Given the description of an element on the screen output the (x, y) to click on. 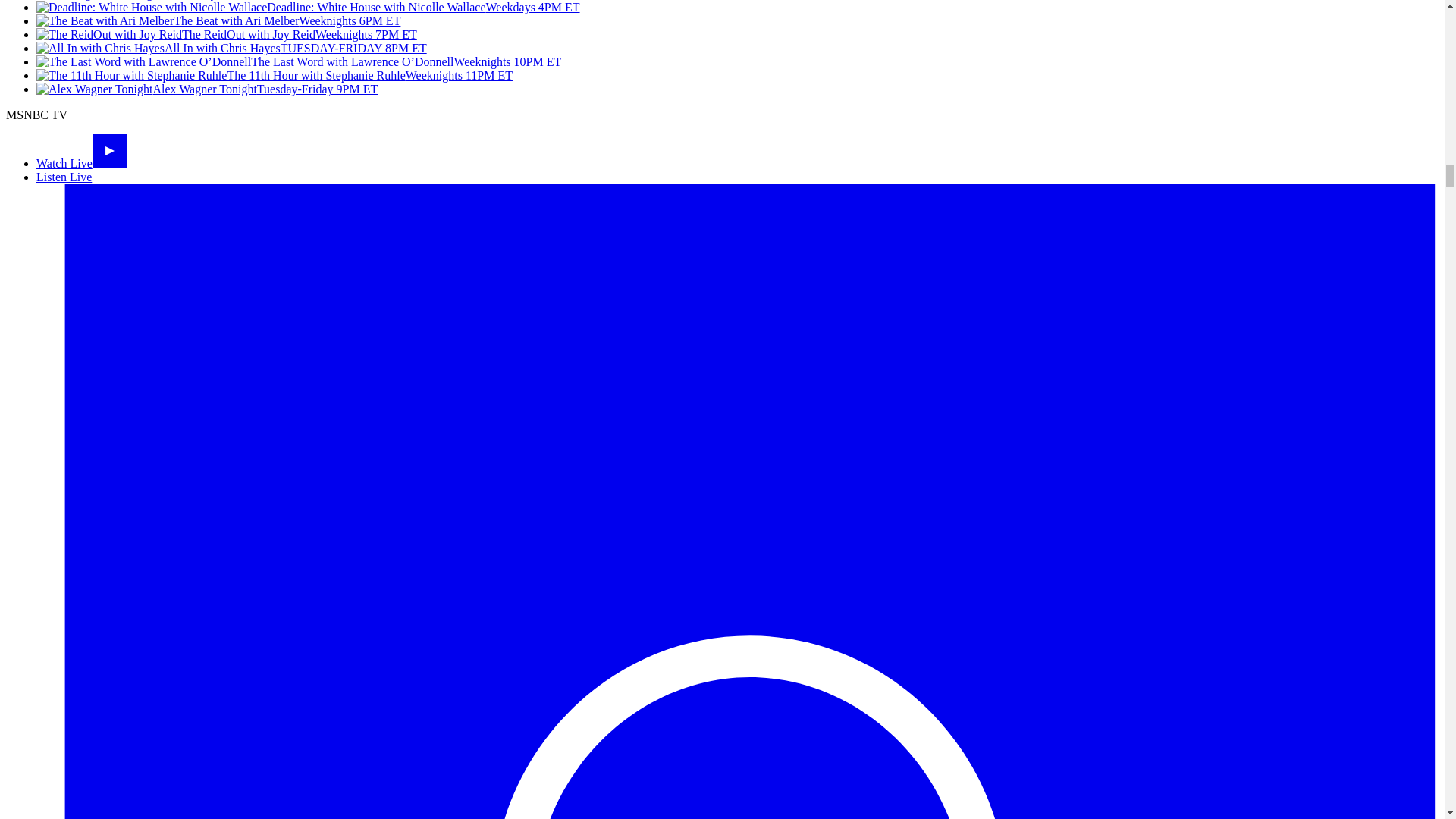
The Beat with Ari MelberWeeknights 6PM ET (218, 20)
All In with Chris HayesTUESDAY-FRIDAY 8PM ET (231, 47)
Watch Live (82, 163)
The ReidOut with Joy ReidWeeknights 7PM ET (226, 33)
The 11th Hour with Stephanie RuhleWeeknights 11PM ET (274, 74)
Deadline: White House with Nicolle WallaceWeekdays 4PM ET (307, 6)
Alex Wagner TonightTuesday-Friday 9PM ET (206, 88)
